Given the description of an element on the screen output the (x, y) to click on. 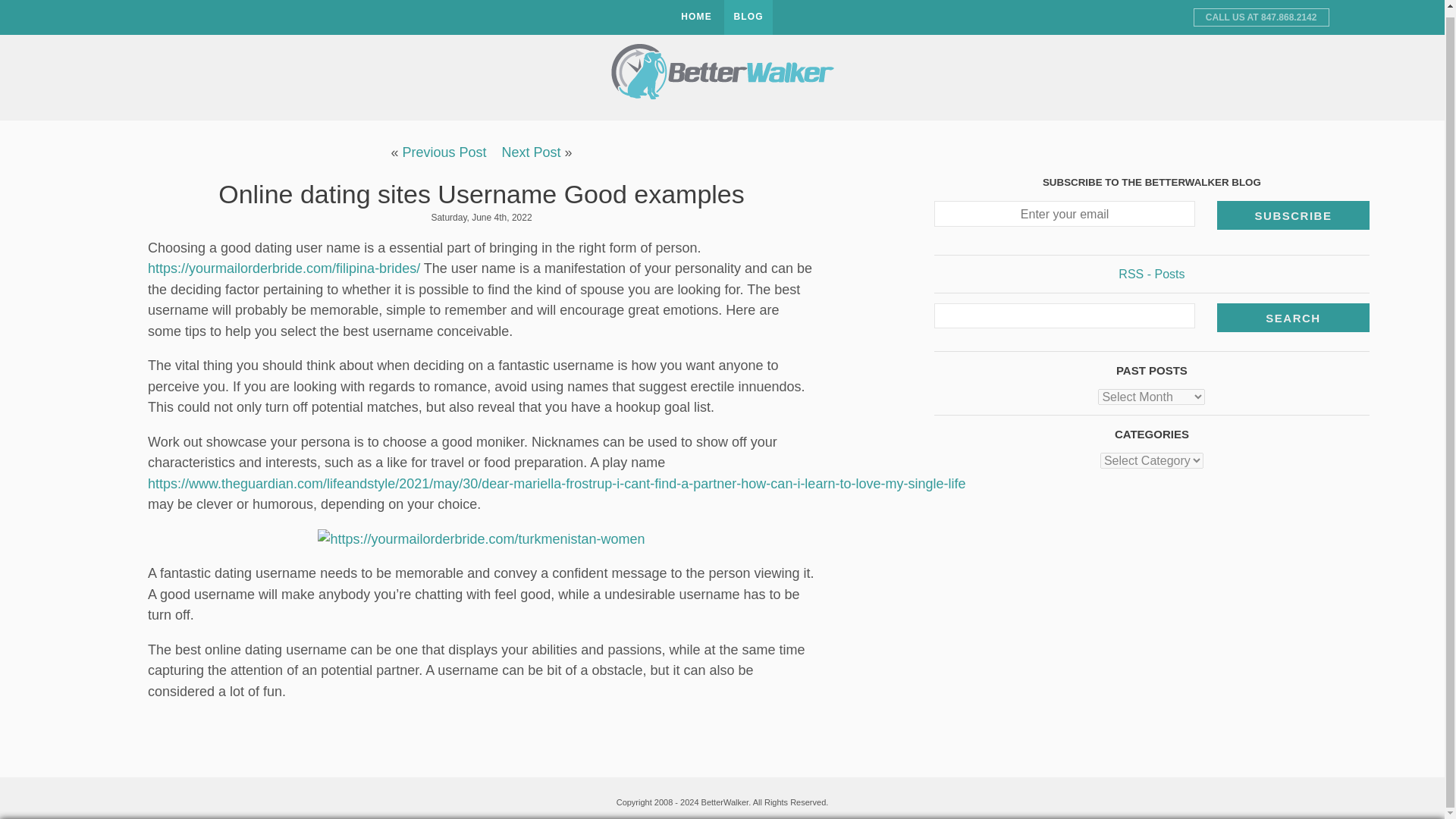
CALL US AT 847.868.2142 (1261, 11)
Search (1293, 311)
Next Post (531, 151)
BLOG (747, 14)
RSS - Posts (1151, 267)
Subscribe (1293, 208)
HOME (695, 14)
Subscribe (1293, 208)
Previous Post (443, 151)
Search (1293, 311)
